Given the description of an element on the screen output the (x, y) to click on. 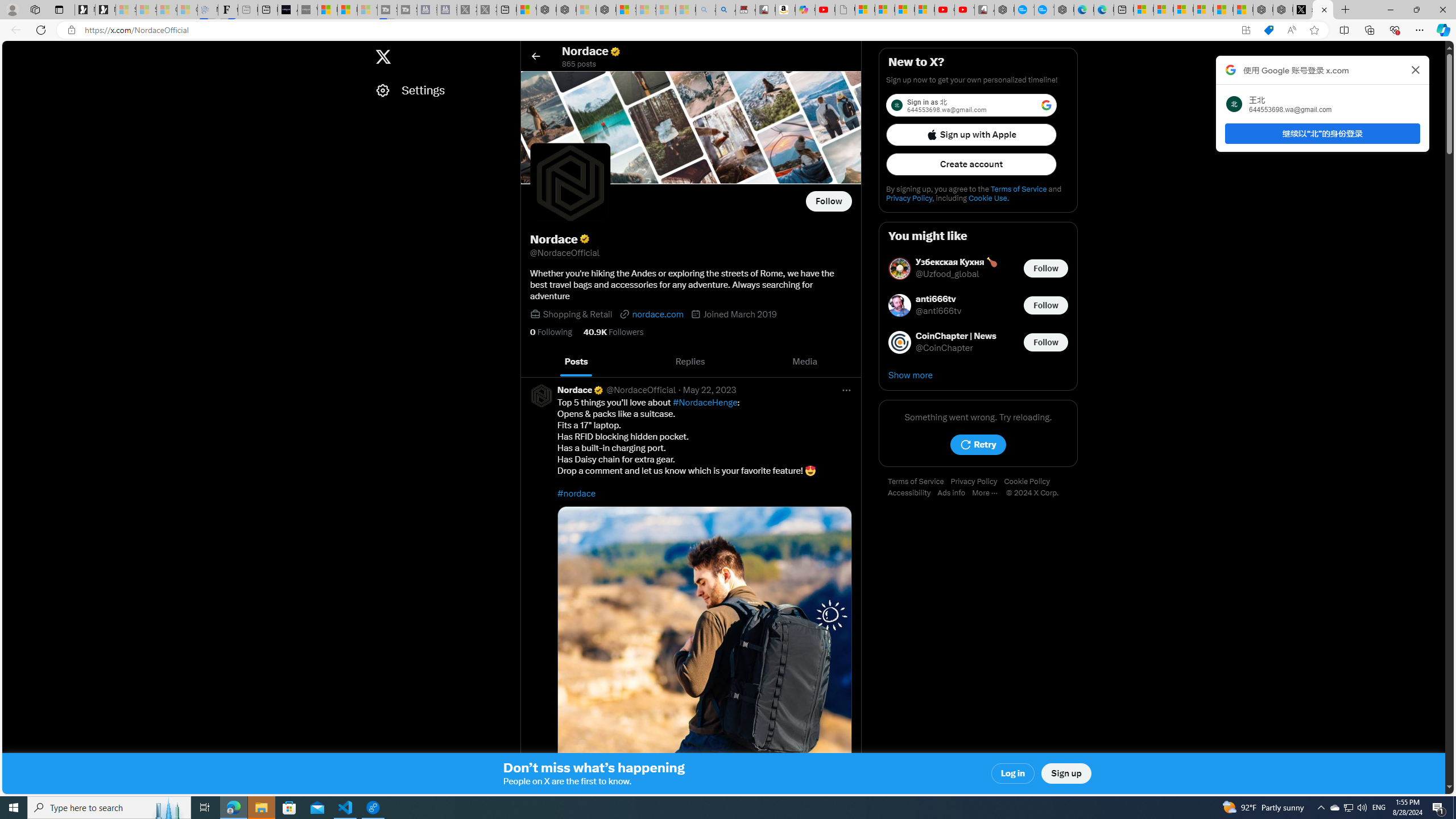
Ads info (954, 492)
Class: Bz112c Bz112c-r9oPif (1415, 69)
40.9K Followers (612, 331)
@NordaceOfficial (640, 389)
